Given the description of an element on the screen output the (x, y) to click on. 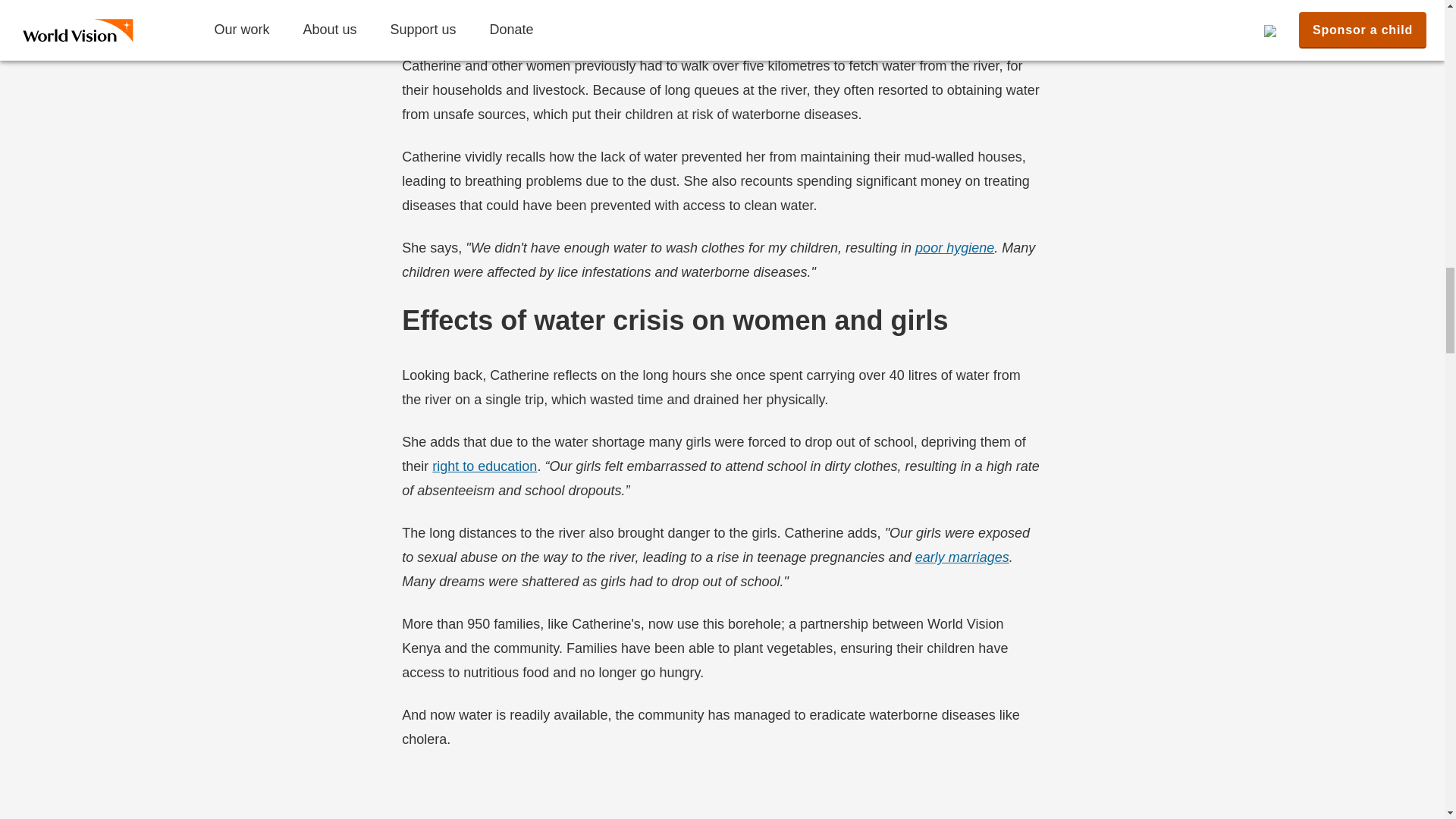
poor hygiene (954, 247)
early marriage (962, 557)
right to education (484, 466)
